Given the description of an element on the screen output the (x, y) to click on. 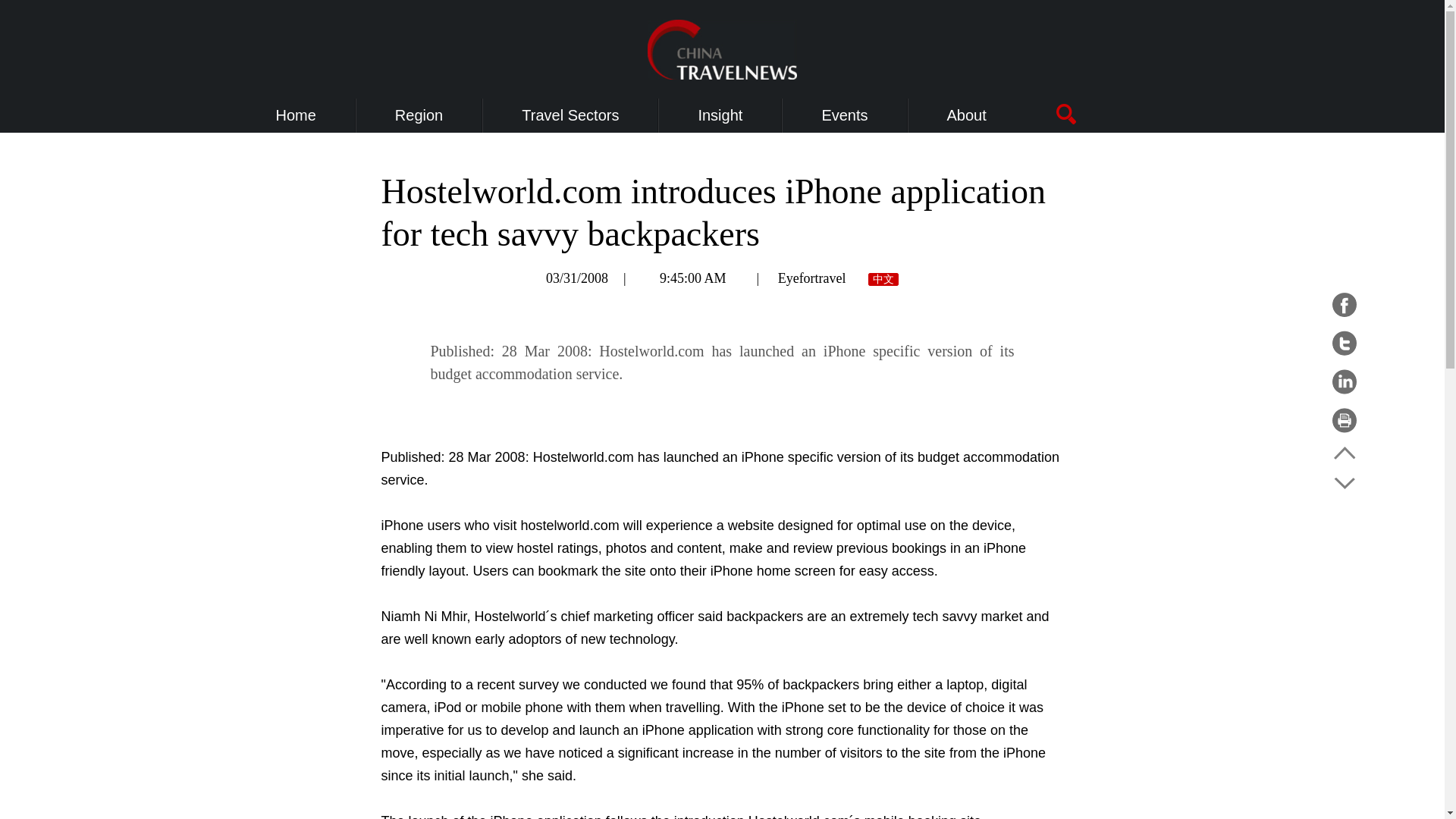
Events (844, 115)
Home (295, 115)
About (967, 115)
